Given the description of an element on the screen output the (x, y) to click on. 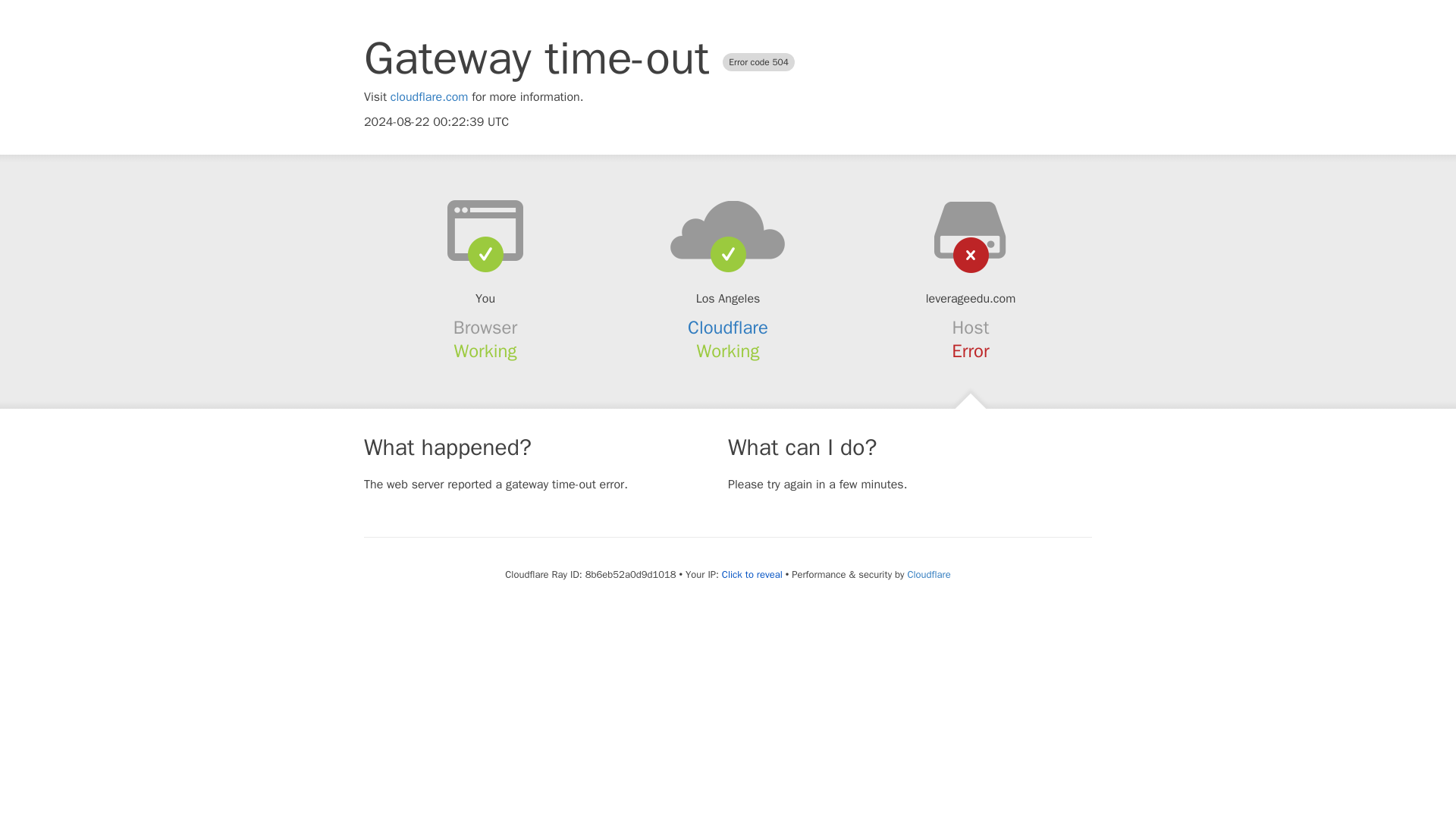
Cloudflare (727, 327)
Click to reveal (752, 574)
Cloudflare (928, 574)
cloudflare.com (429, 96)
